Given the description of an element on the screen output the (x, y) to click on. 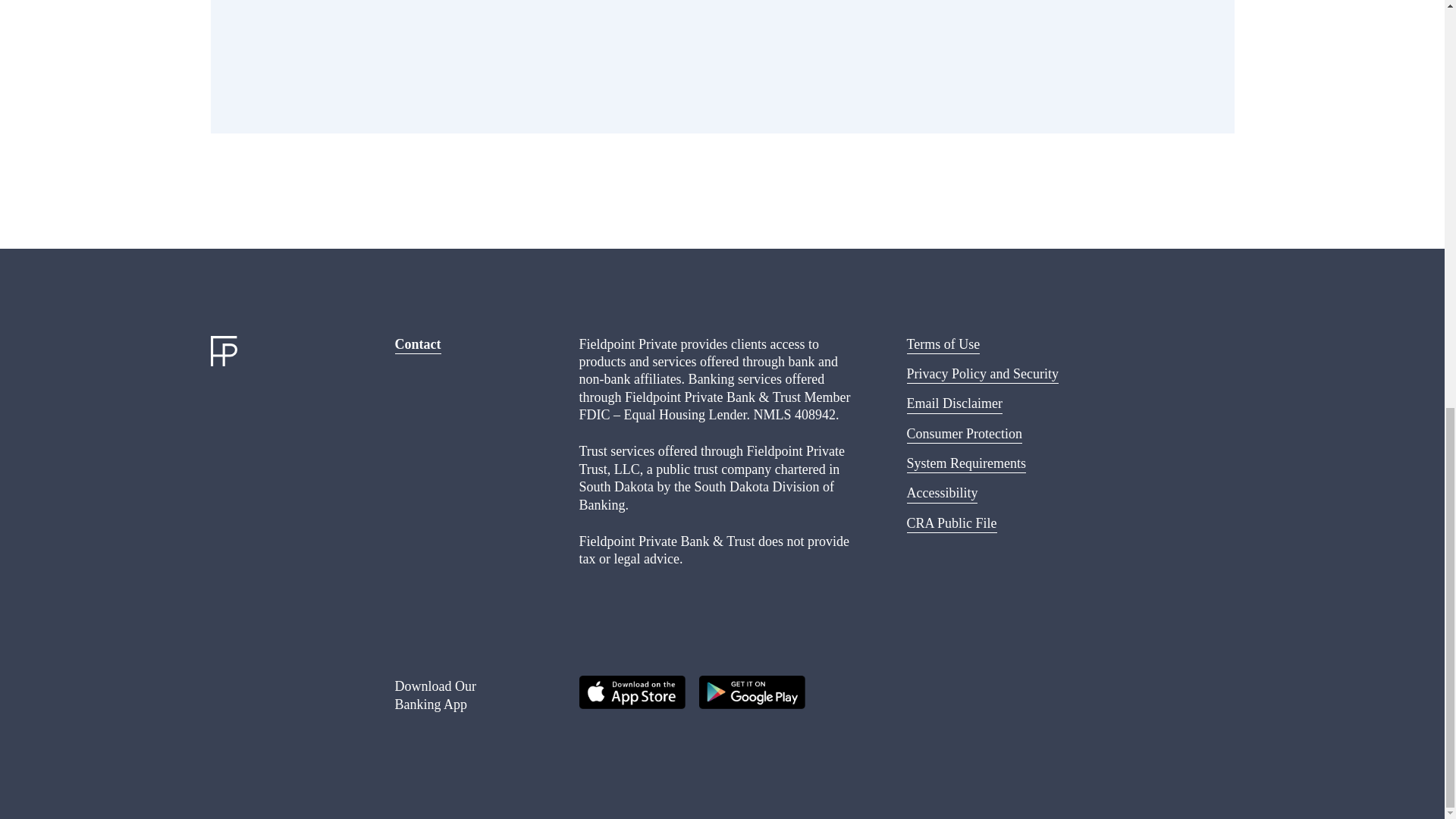
Terms of Use (943, 344)
Accessibility (942, 492)
Consumer Protection (964, 433)
Privacy Policy and Security (982, 373)
Email Disclaimer (955, 403)
CRA Public File (952, 522)
System Requirements (966, 462)
Contact (417, 344)
